Given the description of an element on the screen output the (x, y) to click on. 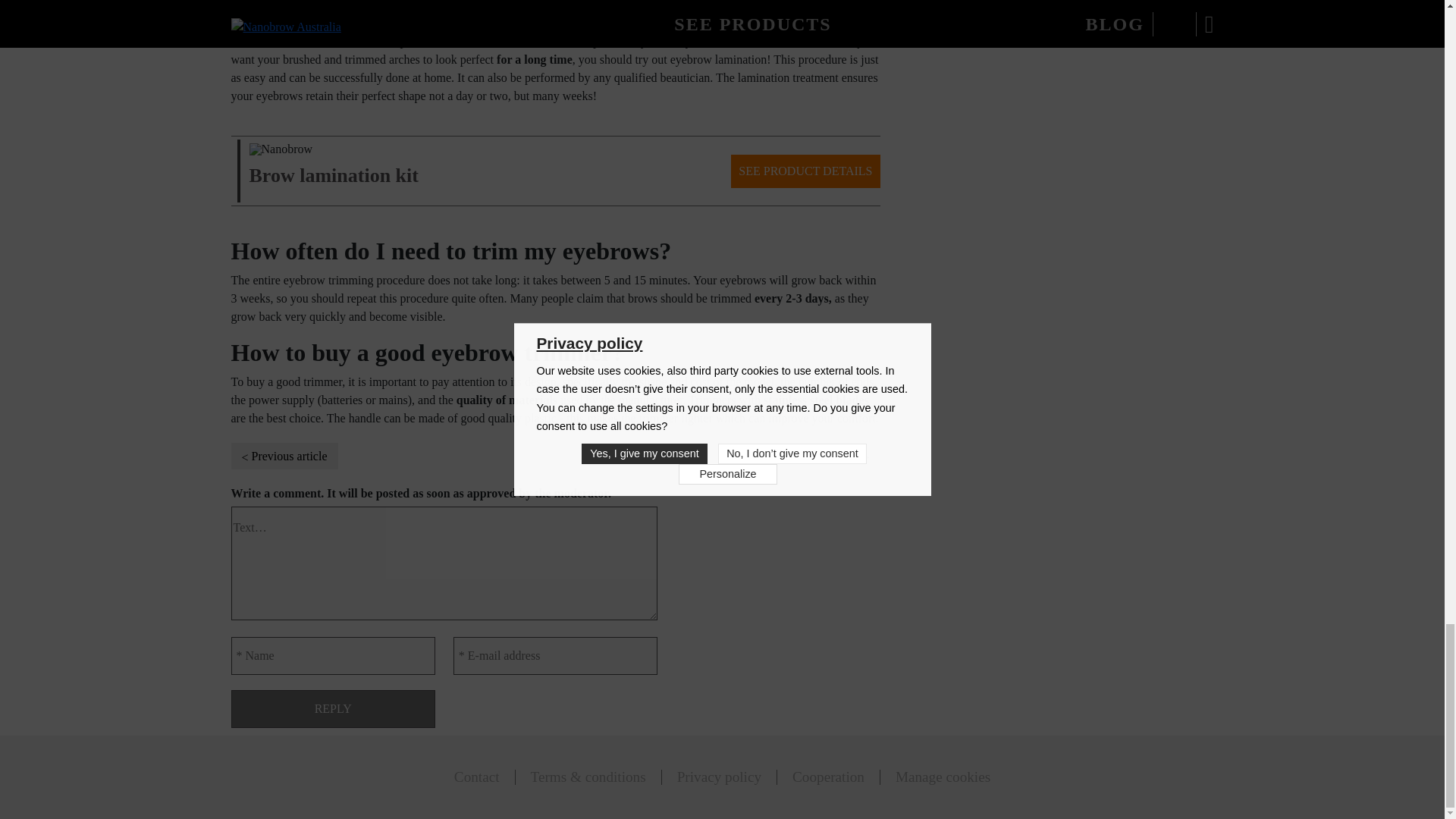
See product details (332, 164)
Next article (835, 456)
Reply (331, 709)
Previous article (283, 456)
